Given the description of an element on the screen output the (x, y) to click on. 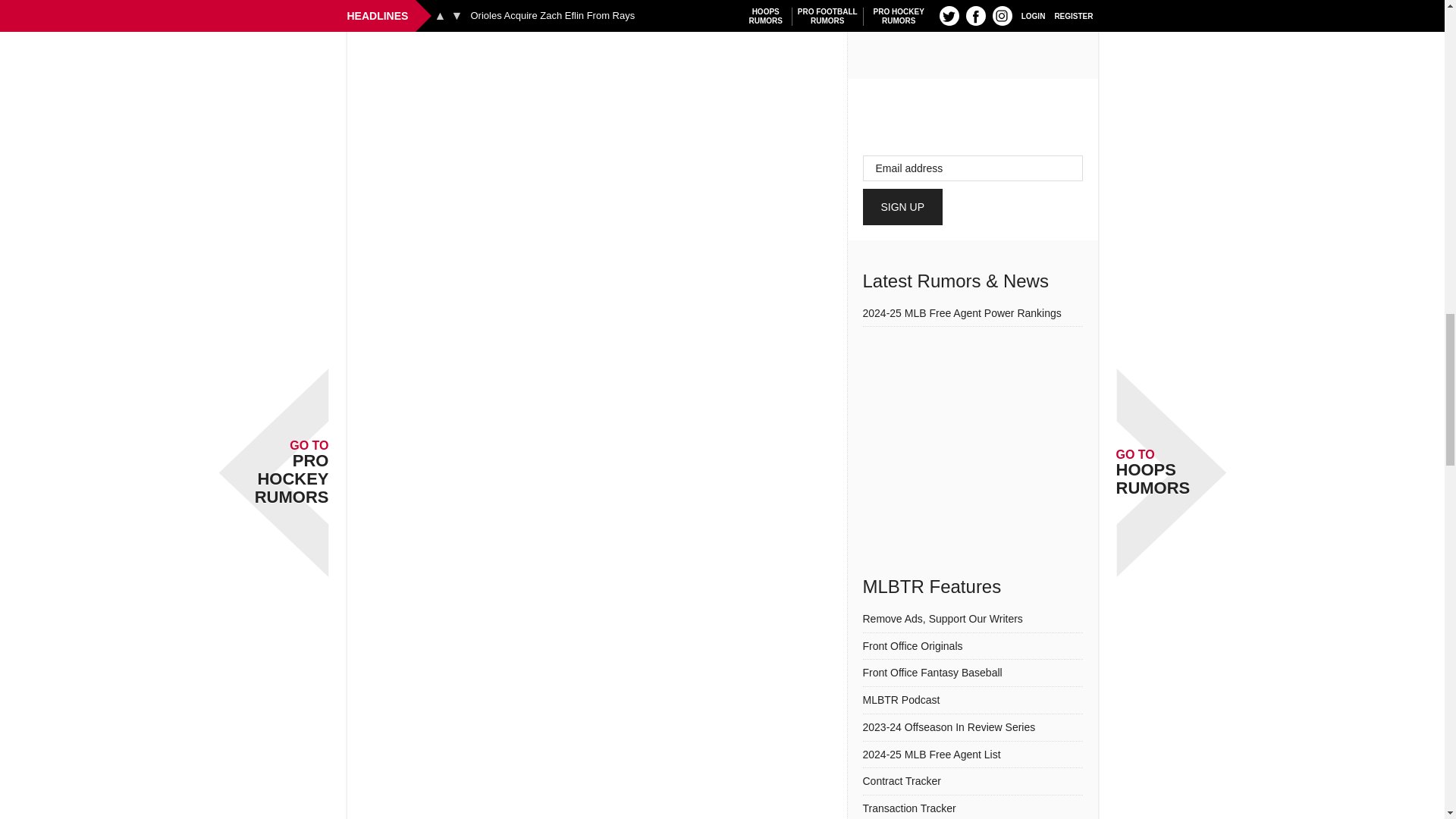
Sign Up (903, 207)
